Given the description of an element on the screen output the (x, y) to click on. 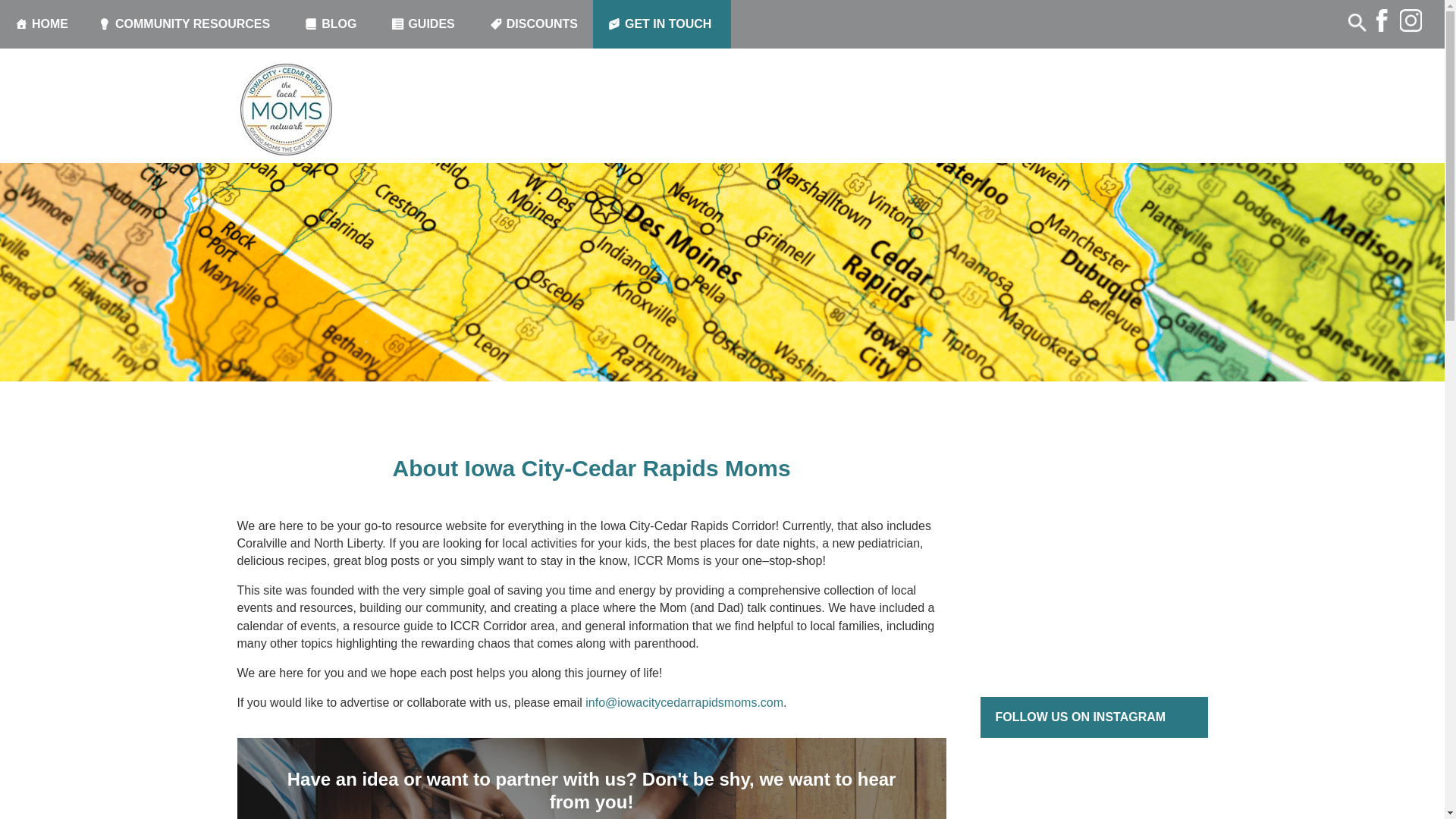
BLOG (332, 24)
HOME (41, 24)
GUIDES (424, 24)
DISCOUNTS (533, 24)
GET IN TOUCH (661, 24)
FOLLOW US ON INSTAGRAM (1080, 716)
Search (34, 13)
3rd party ad content (1093, 567)
COMMUNITY RESOURCES (185, 24)
